Given the description of an element on the screen output the (x, y) to click on. 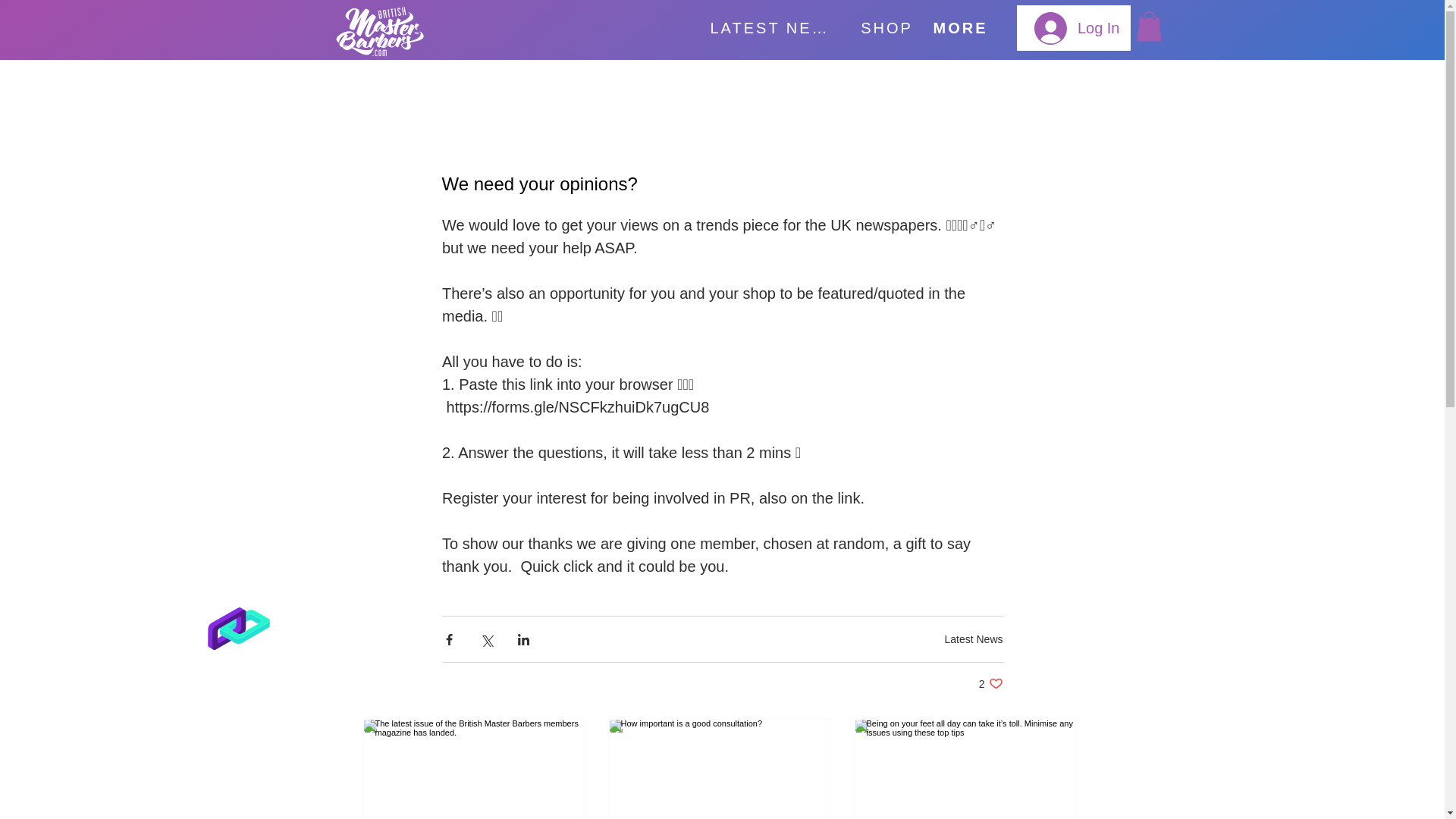
Latest News (990, 683)
british-master-barbers-white.png (973, 638)
Log In (379, 31)
LATEST NEWS (1077, 28)
SHOP (775, 28)
MORE (885, 28)
